Given the description of an element on the screen output the (x, y) to click on. 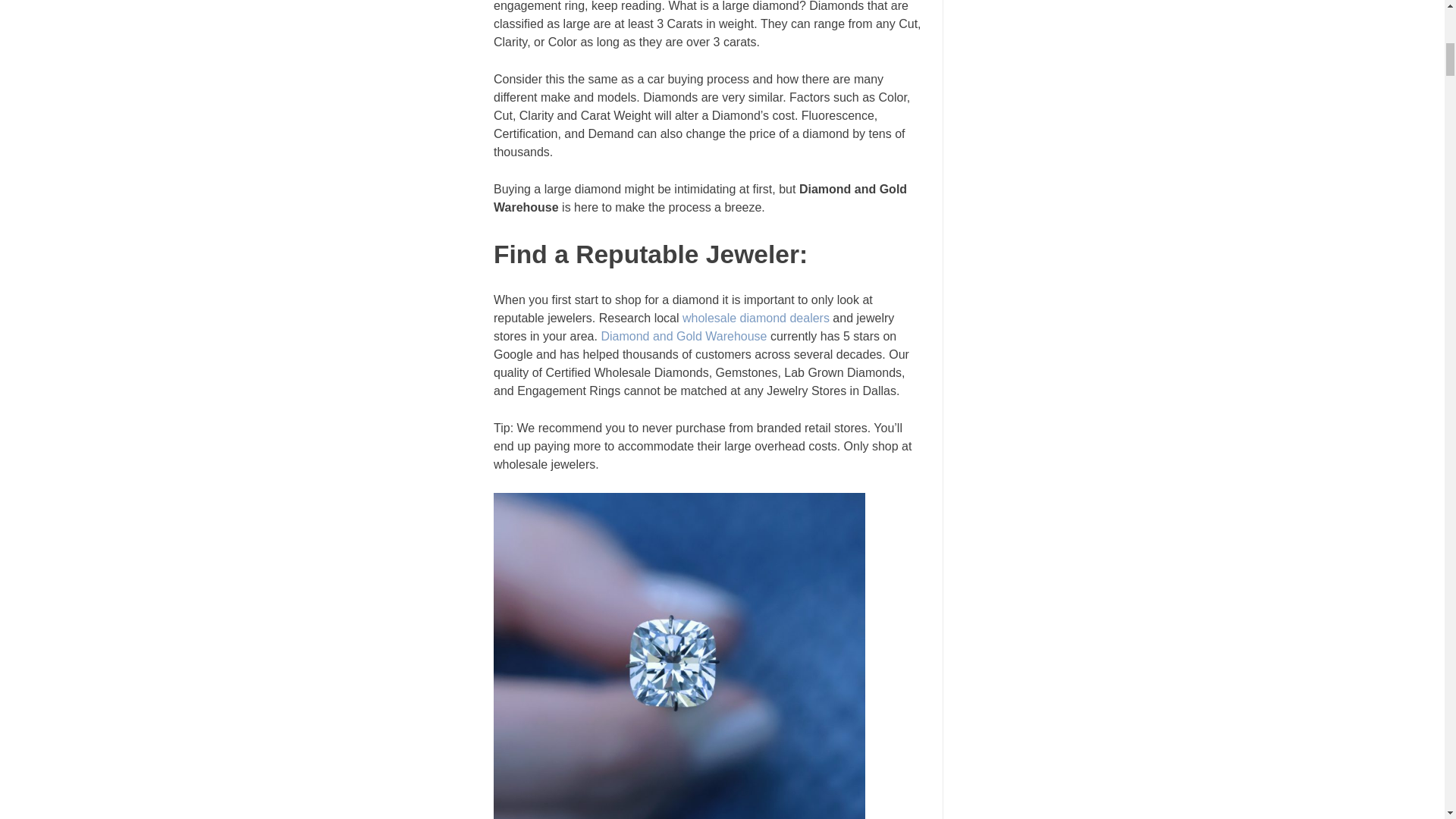
Diamond and Gold Warehouse (683, 336)
wholesale diamond dealers (755, 318)
